Given the description of an element on the screen output the (x, y) to click on. 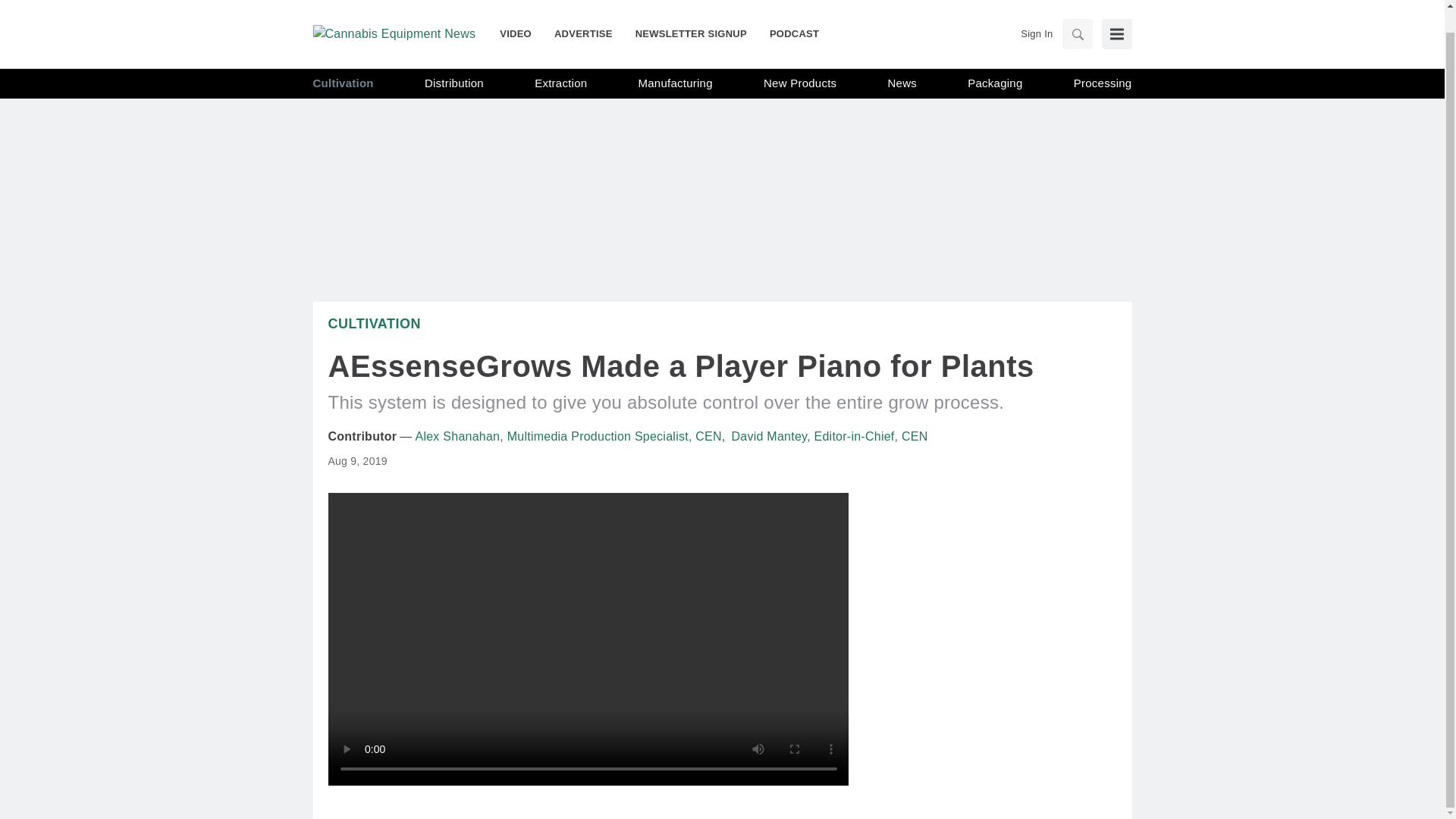
ADVERTISE (583, 10)
Processing (1103, 60)
News (902, 60)
PODCAST (788, 10)
Manufacturing (676, 60)
Distribution (454, 60)
Extraction (560, 60)
Packaging (995, 60)
VIDEO (521, 10)
NEWSLETTER SIGNUP (691, 10)
New Products (798, 60)
Cultivation (342, 60)
Cultivation (373, 323)
Sign In (1036, 11)
